Given the description of an element on the screen output the (x, y) to click on. 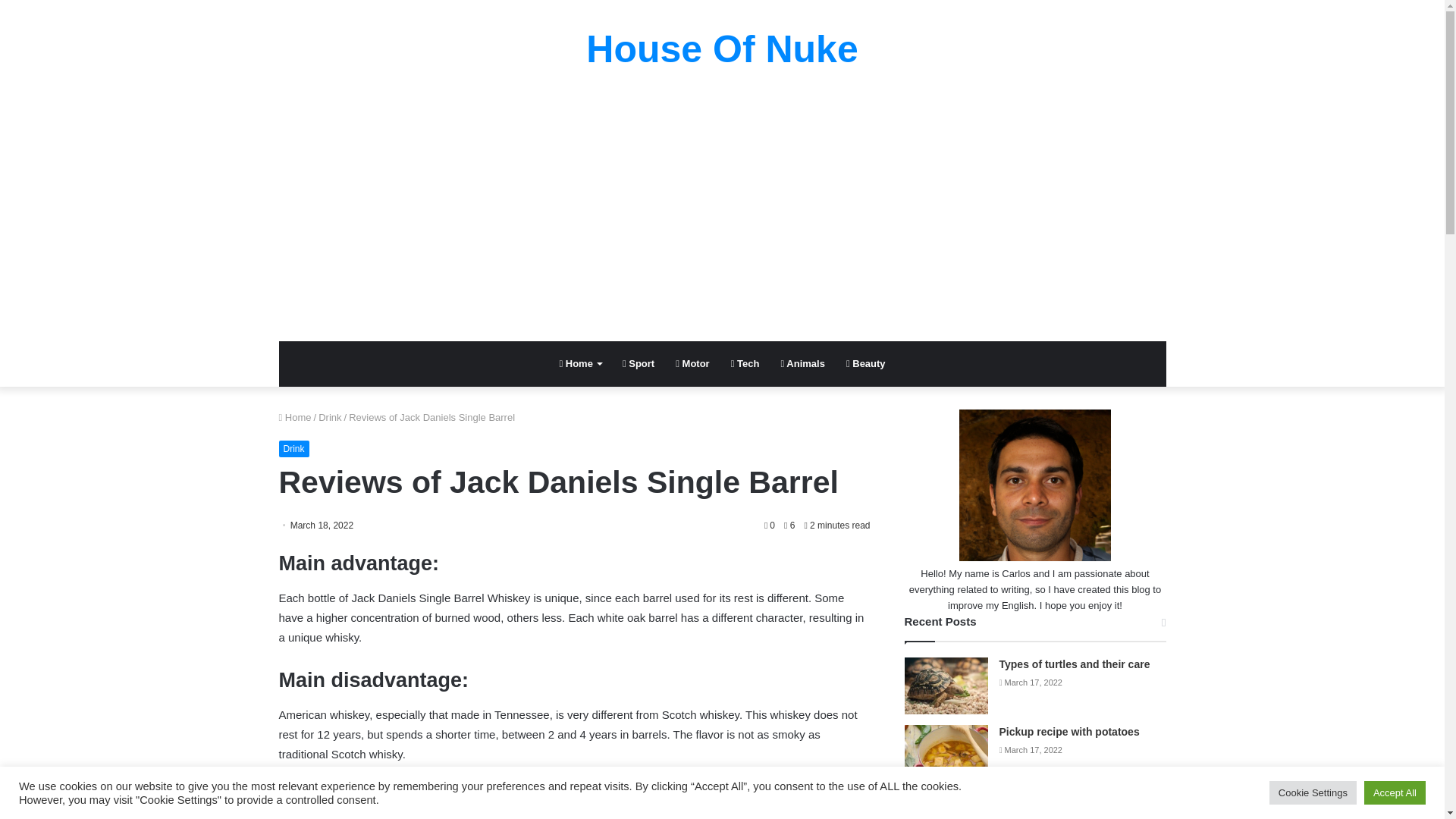
Sport (638, 363)
Animals (802, 363)
Types of turtles and their care (1074, 664)
Drink (293, 448)
Home (579, 363)
House Of Nuke (721, 48)
Drink (329, 417)
Tech (745, 363)
Beauty (865, 363)
